Given the description of an element on the screen output the (x, y) to click on. 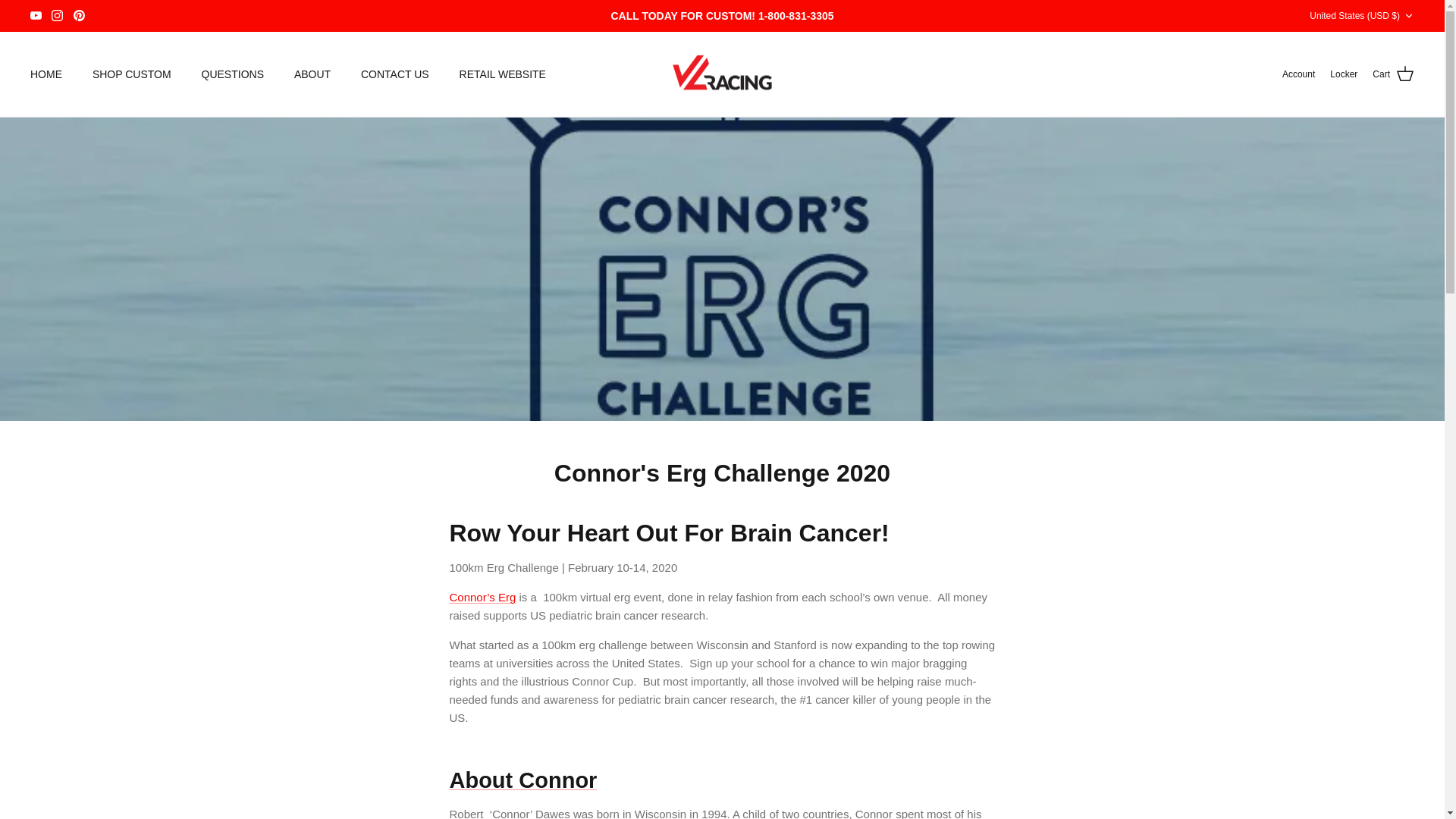
JL Rowing (721, 74)
Down (1408, 15)
Instagram (56, 15)
Pinterest (79, 15)
Youtube (36, 15)
Connor's Rowing Erg Challenge 2020 (522, 780)
Instagram (56, 15)
Connor's Erg Challenge 2020 (481, 596)
Youtube (36, 15)
Pinterest (79, 15)
